Given the description of an element on the screen output the (x, y) to click on. 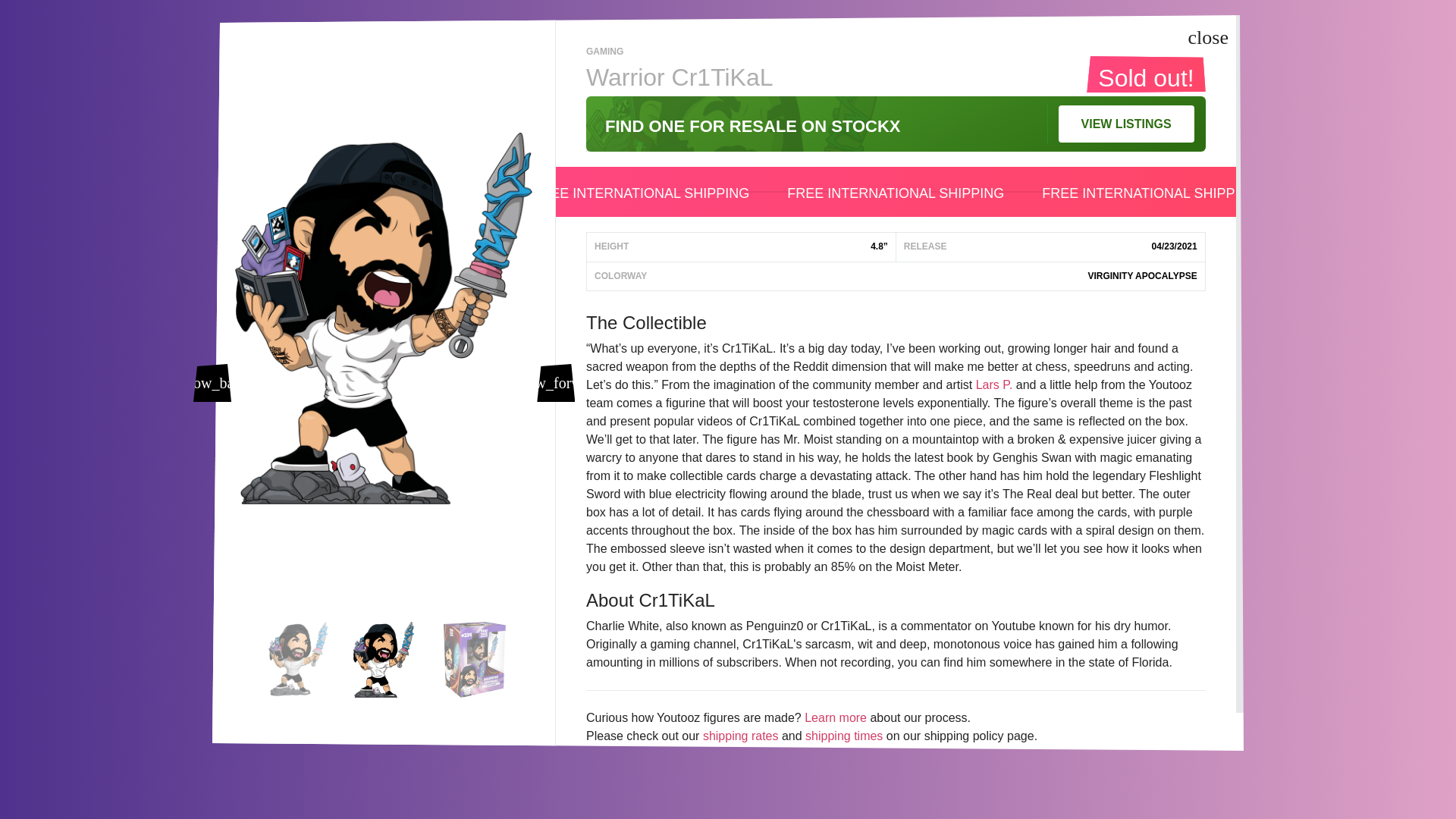
Contact Us (948, 724)
How It's Made (954, 746)
Close (1208, 37)
Track My Order (692, 748)
FAQ (924, 634)
shipping rates (740, 735)
shipping times (843, 735)
Track My Order (692, 748)
Youtooz on Instagram (380, 678)
Youtooz on Facebook (321, 678)
Terms (932, 678)
Learn more (836, 717)
TERMS (932, 678)
Youtooz on Tiktok (439, 678)
PRIVACY (936, 701)
